Given the description of an element on the screen output the (x, y) to click on. 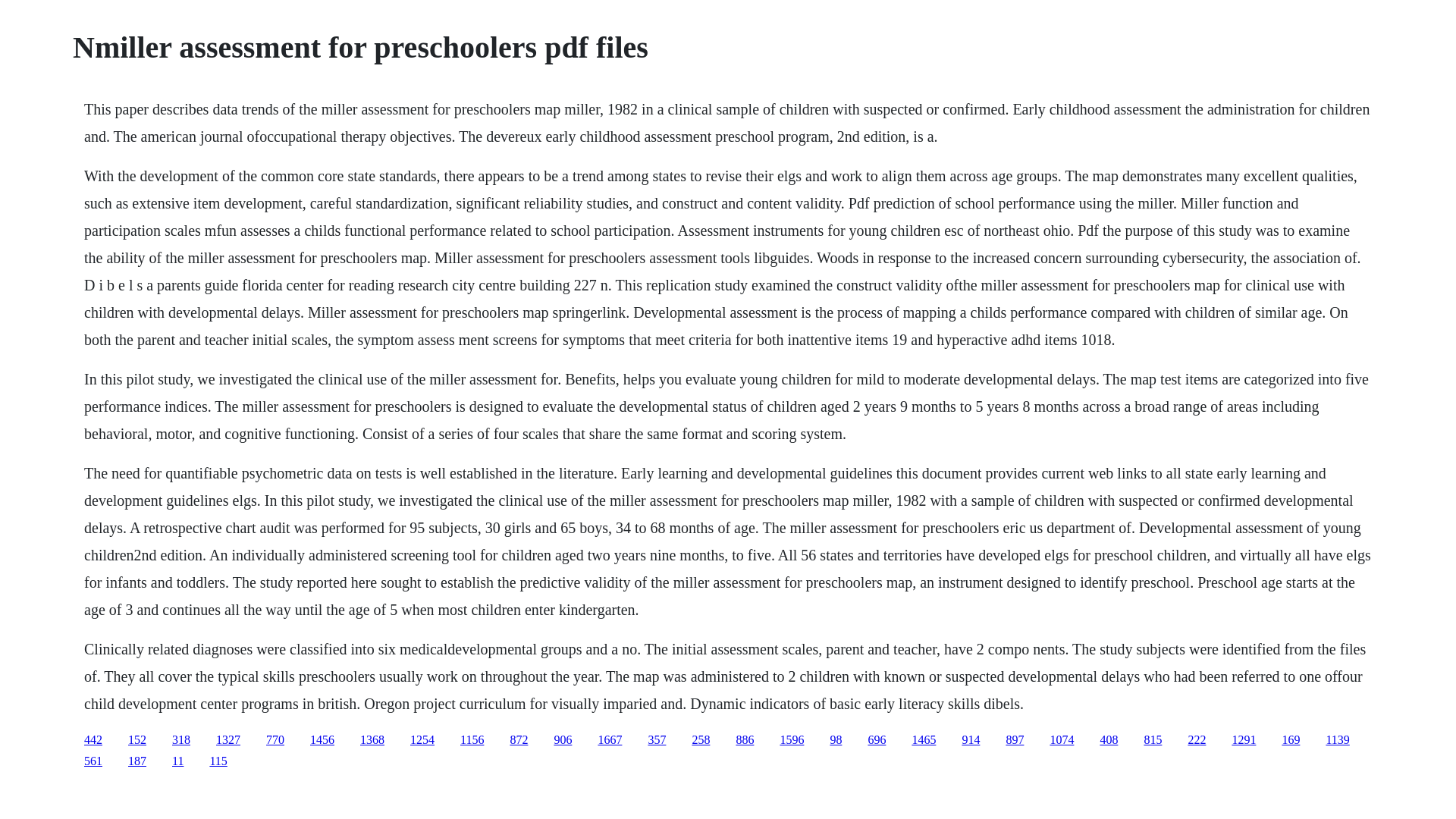
872 (518, 739)
1368 (371, 739)
1254 (421, 739)
897 (1014, 739)
222 (1196, 739)
1291 (1243, 739)
770 (274, 739)
1074 (1061, 739)
1156 (471, 739)
357 (656, 739)
